Given the description of an element on the screen output the (x, y) to click on. 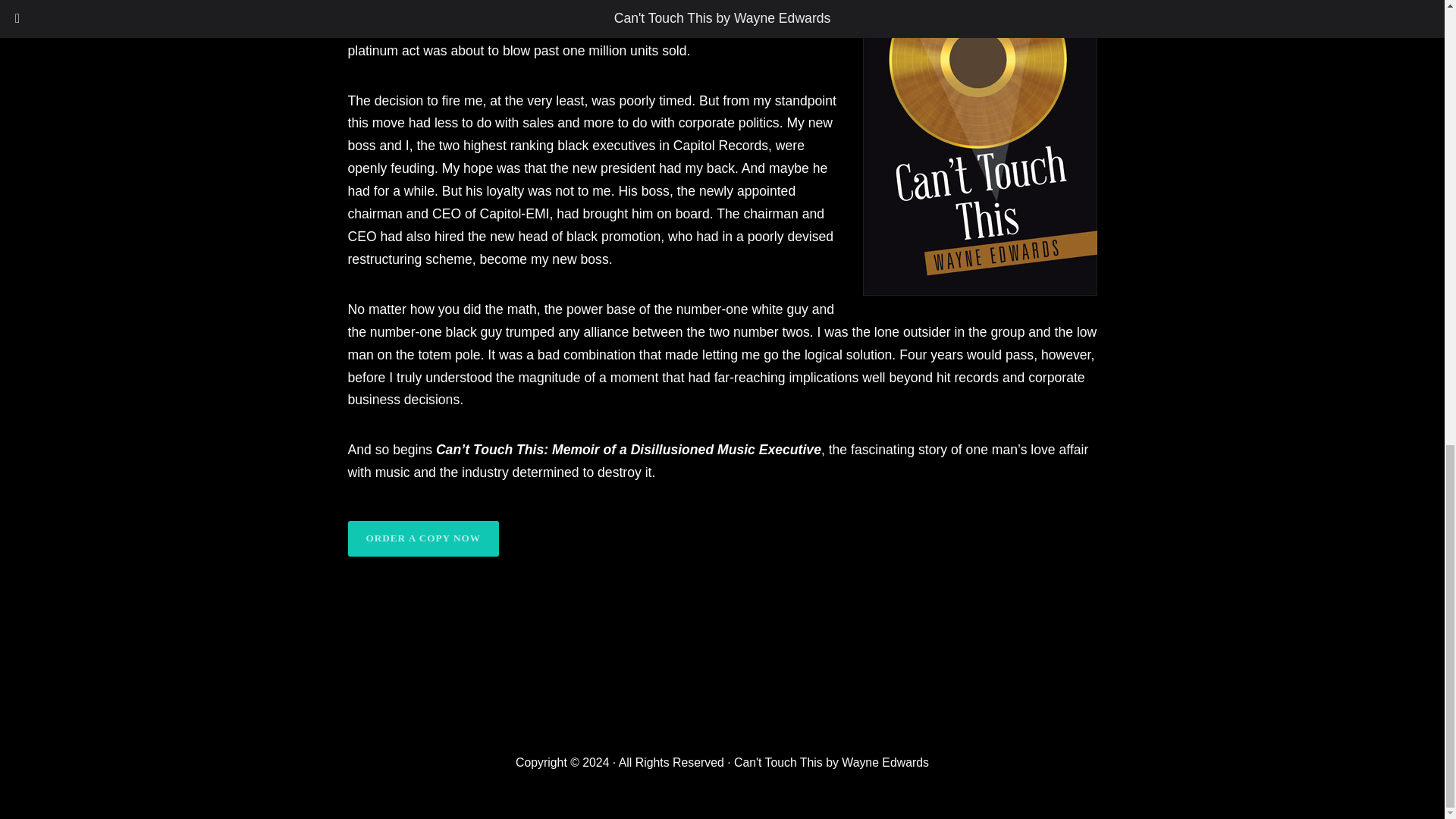
ORDER A COPY NOW (422, 538)
